Given the description of an element on the screen output the (x, y) to click on. 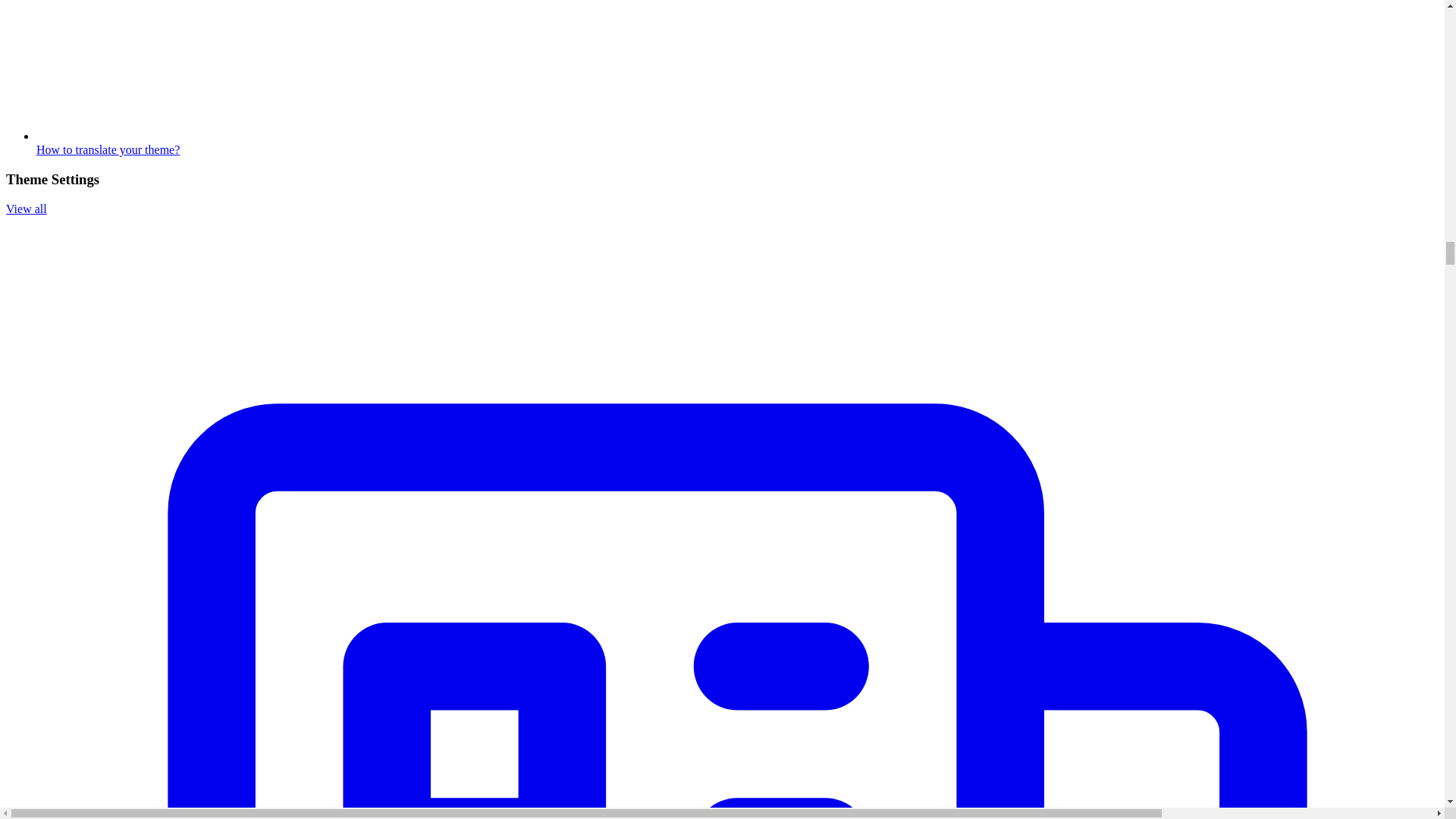
View all (25, 208)
How to translate your theme? (737, 142)
